Given the description of an element on the screen output the (x, y) to click on. 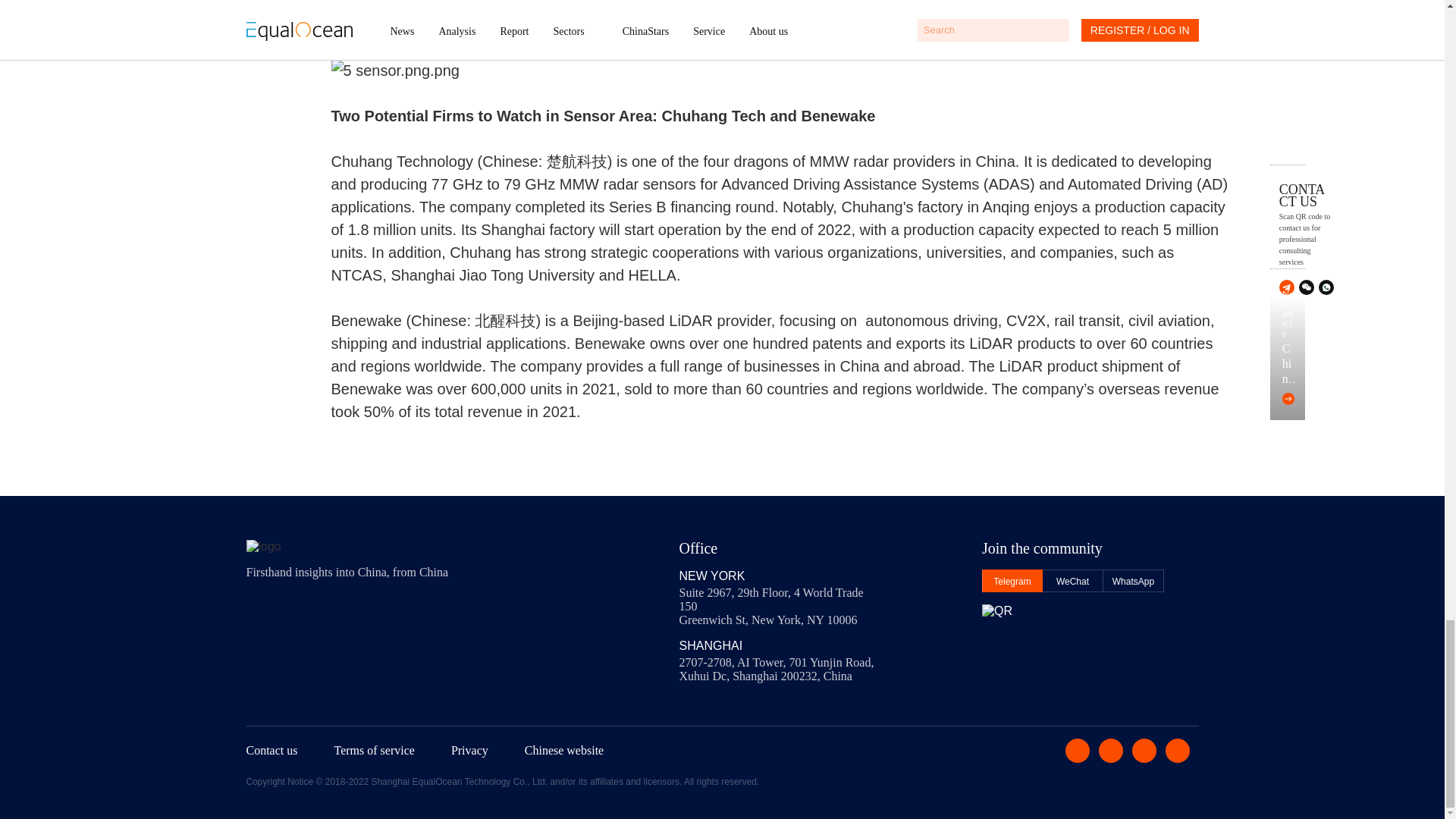
16660846529956.png (781, 69)
